Given the description of an element on the screen output the (x, y) to click on. 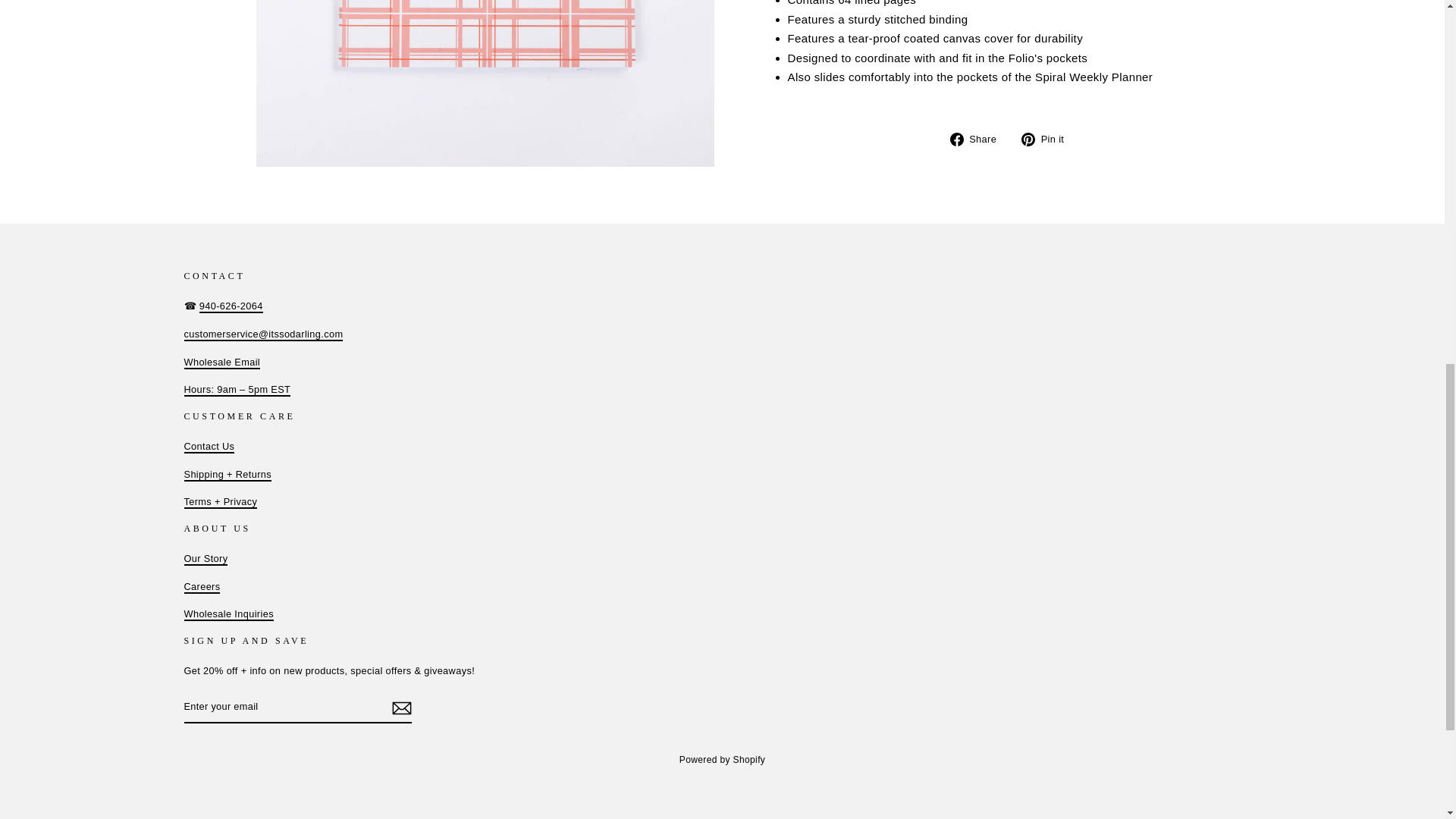
Share on Facebook (978, 138)
Call us! (231, 306)
Pin on Pinterest (1048, 138)
icon-email (400, 708)
Wholesale Inquiries (228, 614)
Wholesale Email (236, 390)
Careers (201, 586)
Our Story (205, 558)
Contact Us (208, 446)
